Given the description of an element on the screen output the (x, y) to click on. 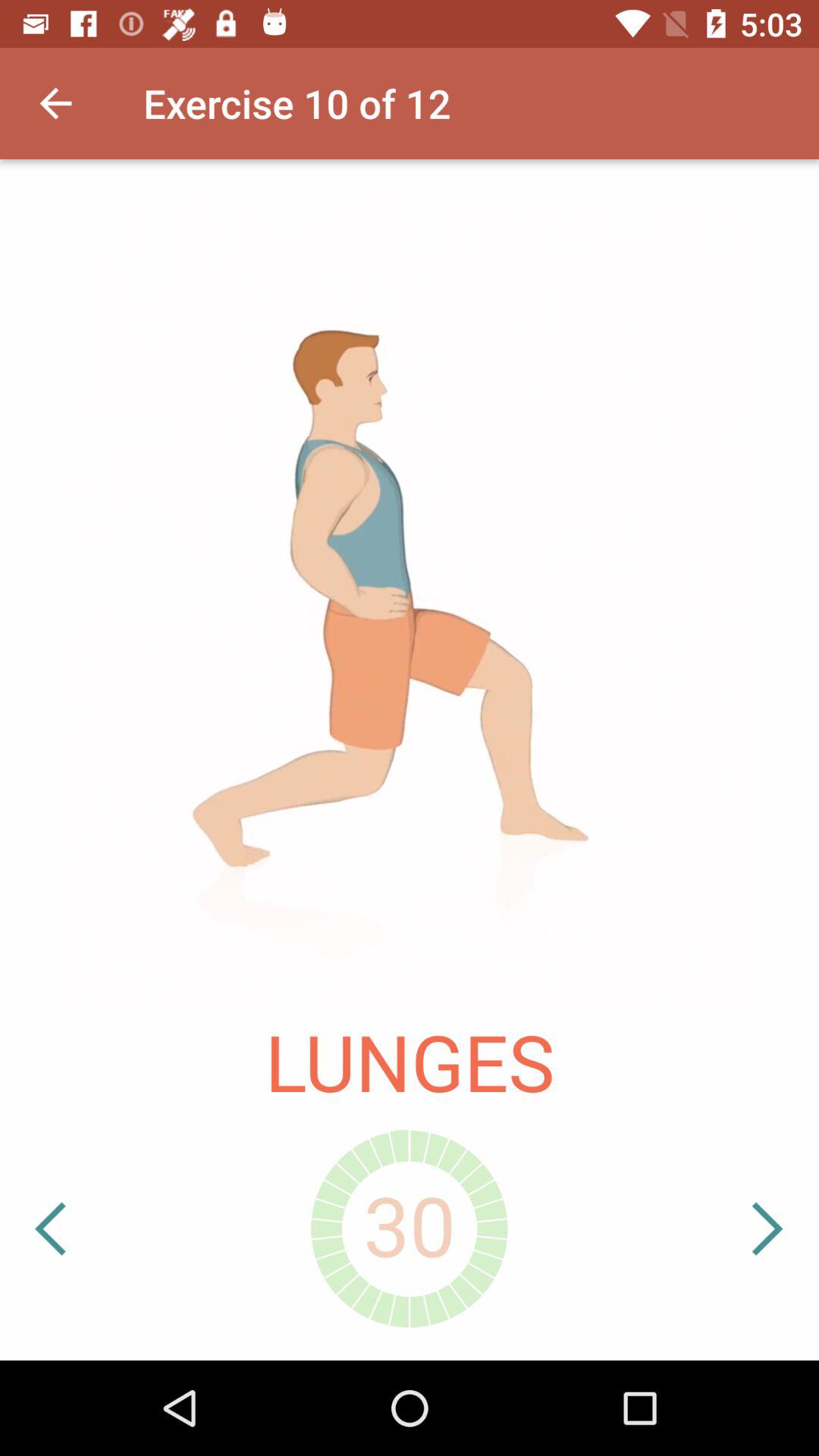
click icon below lunges item (97, 1228)
